Given the description of an element on the screen output the (x, y) to click on. 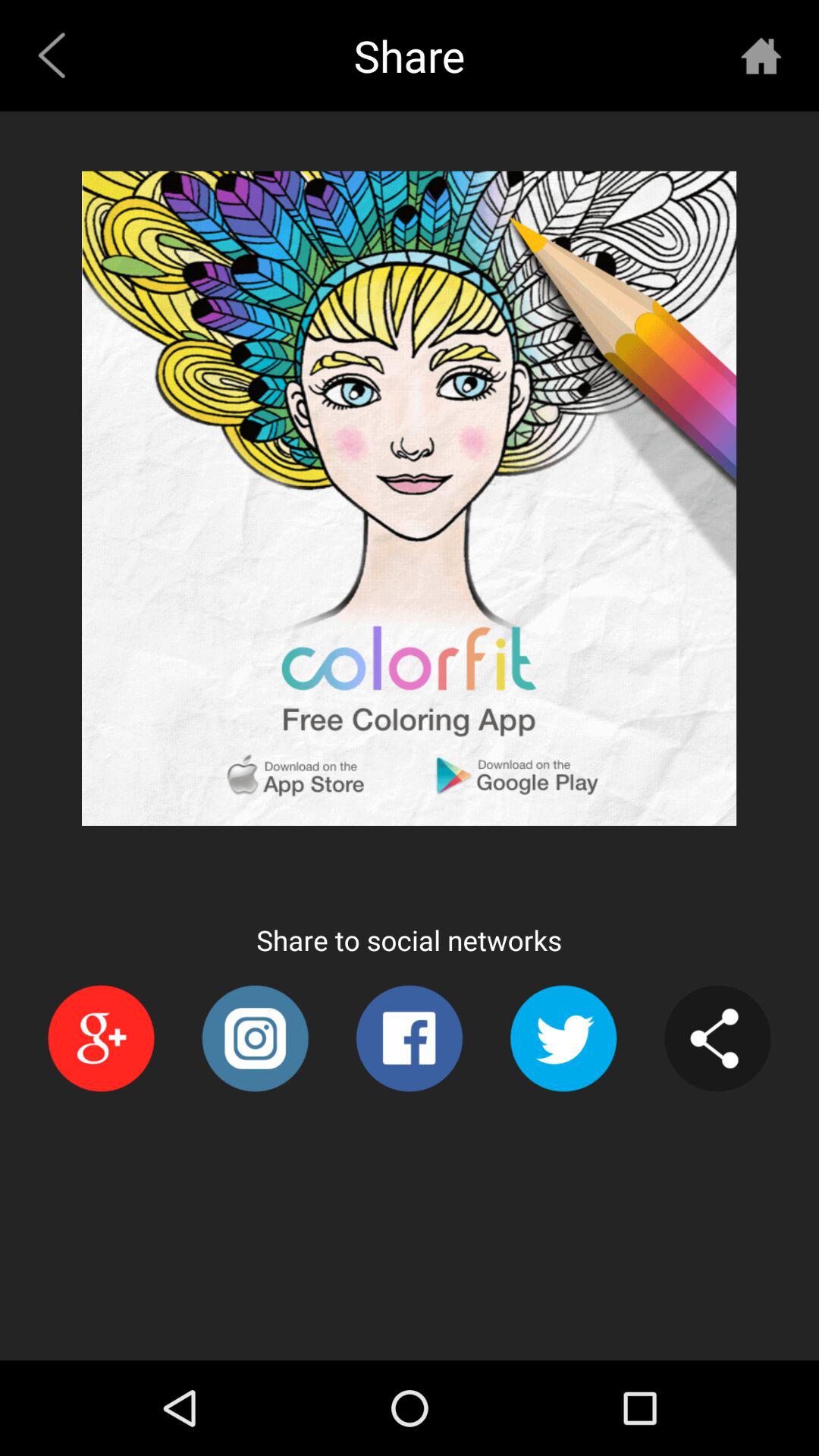
share to google plus (100, 1038)
